Given the description of an element on the screen output the (x, y) to click on. 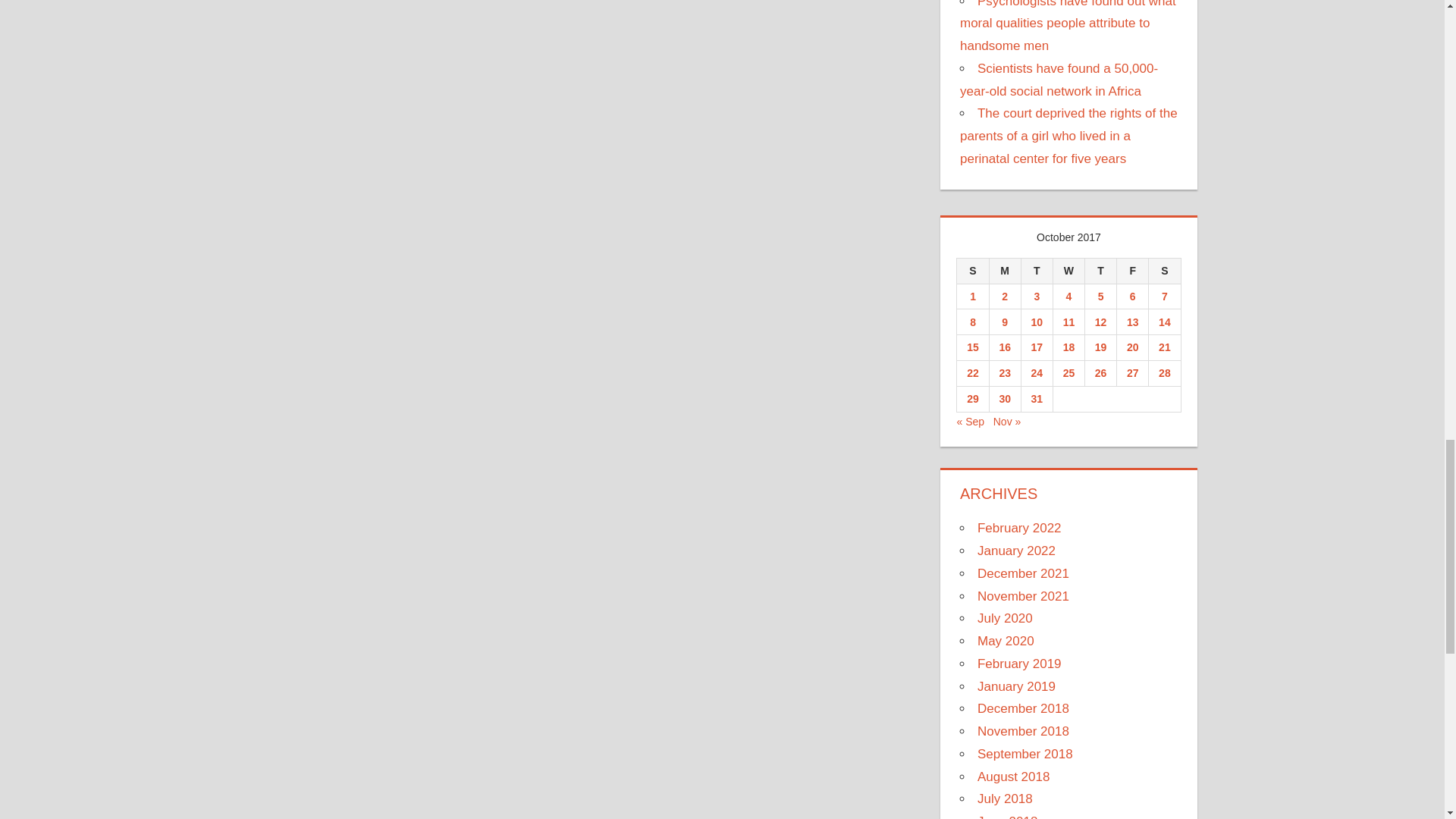
Friday (1132, 270)
Tuesday (1036, 270)
Wednesday (1068, 270)
Thursday (1100, 270)
Sunday (972, 270)
Saturday (1164, 270)
Monday (1004, 270)
